Given the description of an element on the screen output the (x, y) to click on. 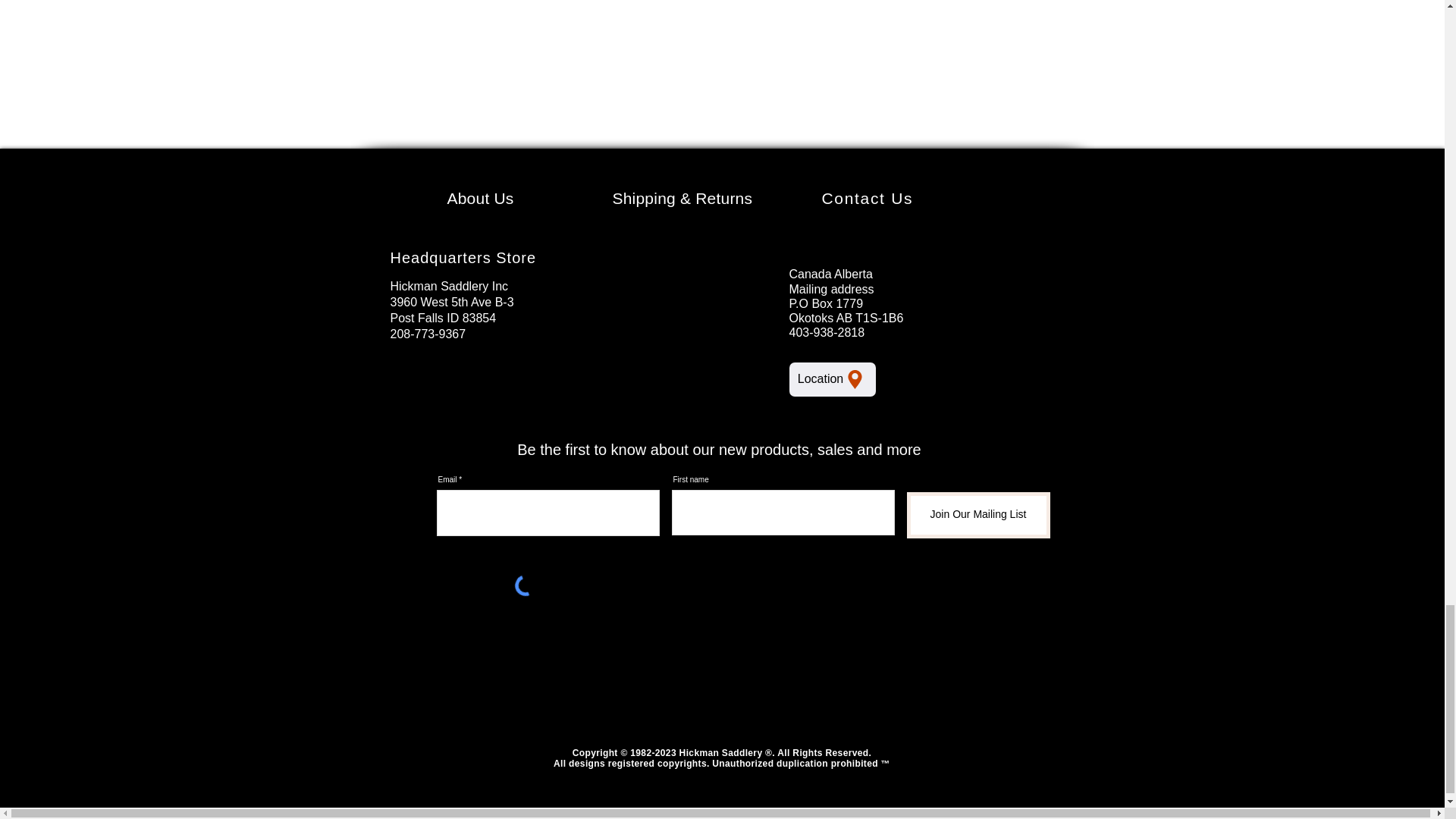
Join Our Mailing List (978, 515)
Location (832, 379)
About Us (479, 198)
